Given the description of an element on the screen output the (x, y) to click on. 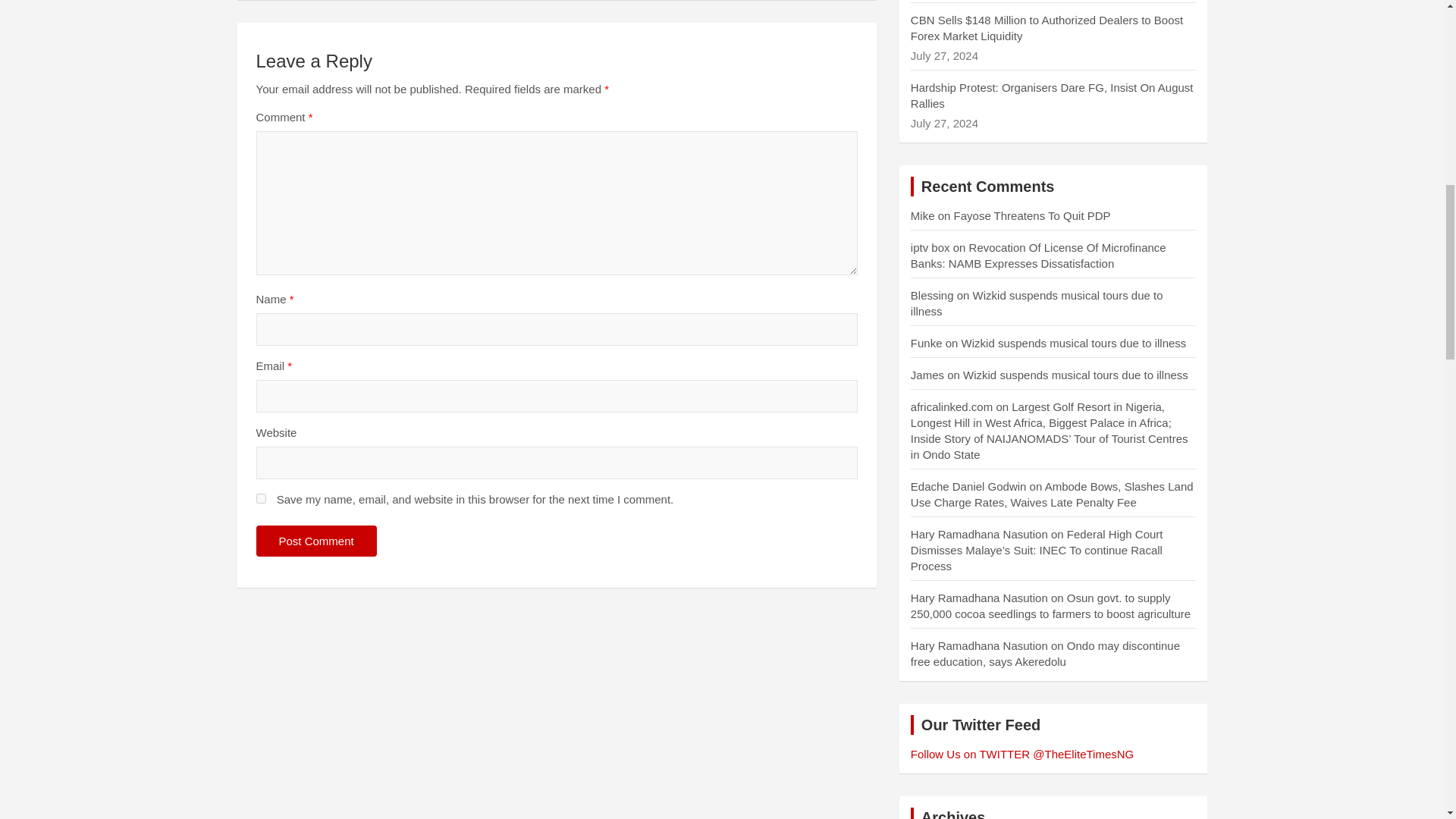
yes (261, 498)
Post Comment (316, 540)
Wizkid suspends musical tours due to illness (1037, 303)
Post Comment (316, 540)
Funke (926, 342)
Wizkid suspends musical tours due to illness (1073, 342)
iptv box (930, 246)
Fayose Threatens To Quit PDP (1031, 215)
Blessing (932, 295)
Mike (922, 215)
